Given the description of an element on the screen output the (x, y) to click on. 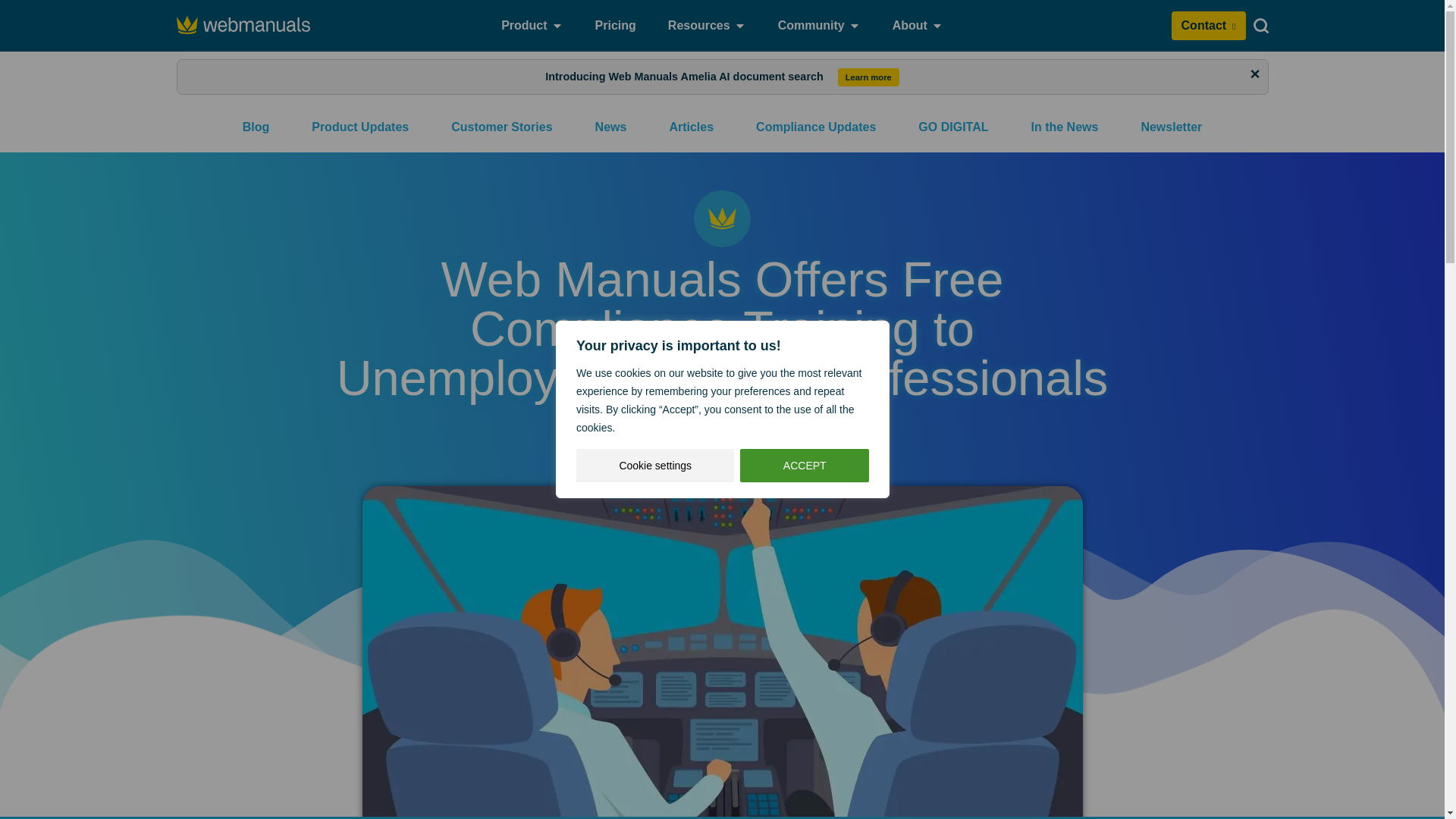
Pricing (615, 25)
Contact (1209, 25)
ACCEPT (804, 465)
Cookie settings (654, 465)
